Given the description of an element on the screen output the (x, y) to click on. 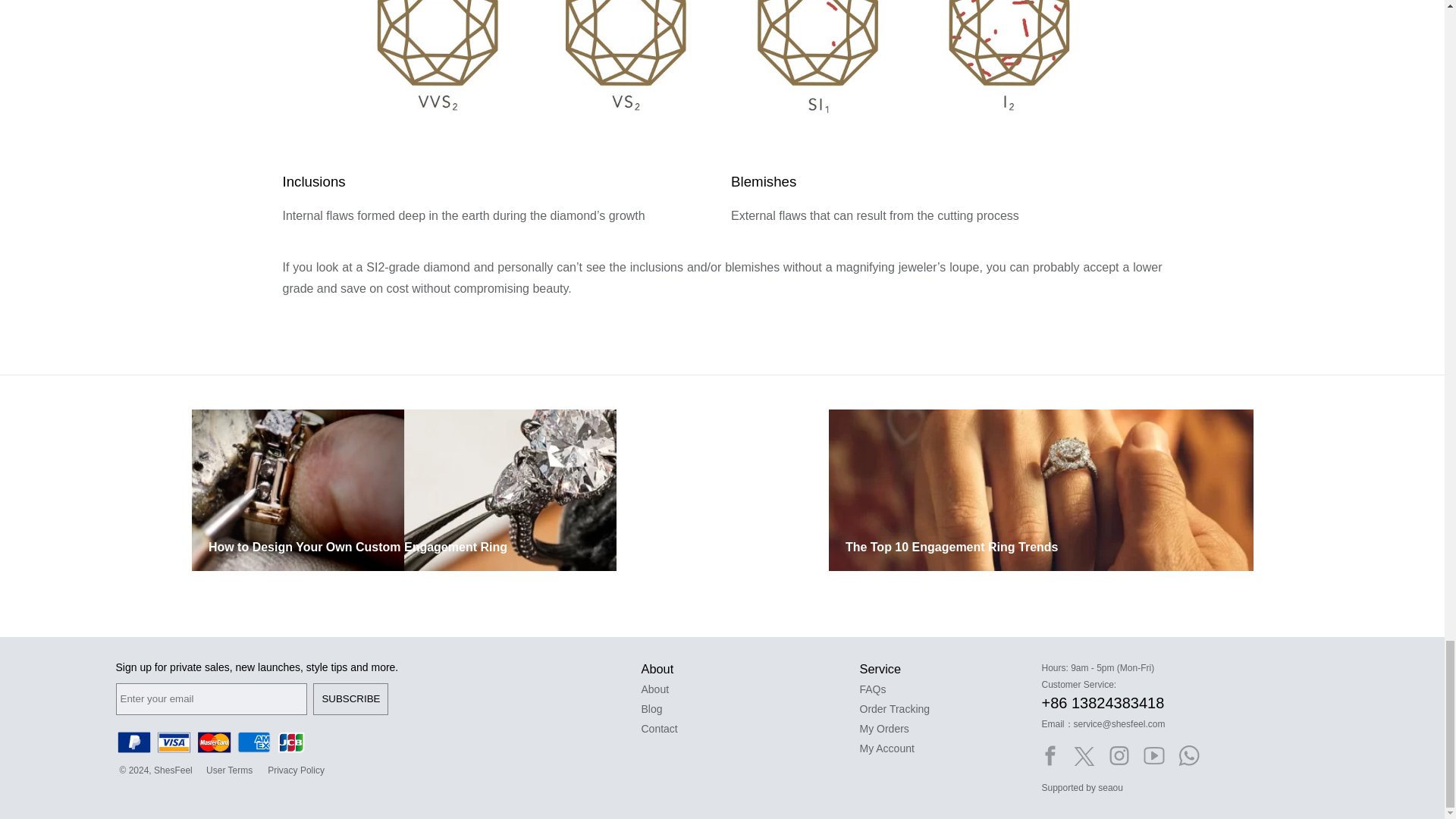
Twitter (1083, 755)
Facebook (1048, 755)
Supported by seaou (1082, 787)
WhatsApp (1188, 755)
Instagram (1118, 755)
Youtube (1153, 755)
